Given the description of an element on the screen output the (x, y) to click on. 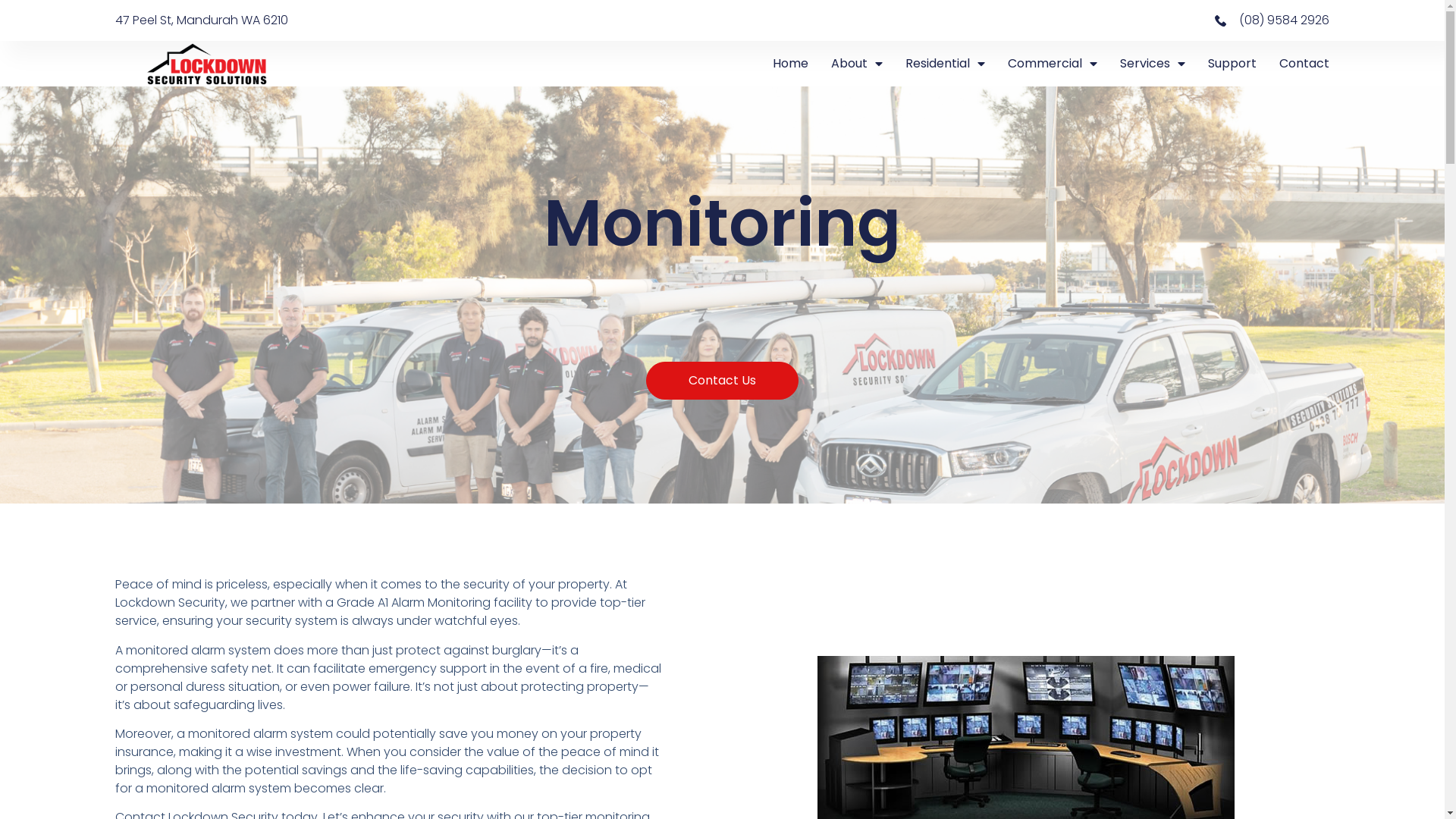
Services Element type: text (1152, 63)
About Element type: text (856, 63)
Contact Us Element type: text (722, 379)
Home Element type: text (790, 63)
Support Element type: text (1232, 63)
Residential Element type: text (945, 63)
(08) 9584 2926 Element type: text (1024, 20)
Contact Element type: text (1304, 63)
Commercial Element type: text (1052, 63)
